Given the description of an element on the screen output the (x, y) to click on. 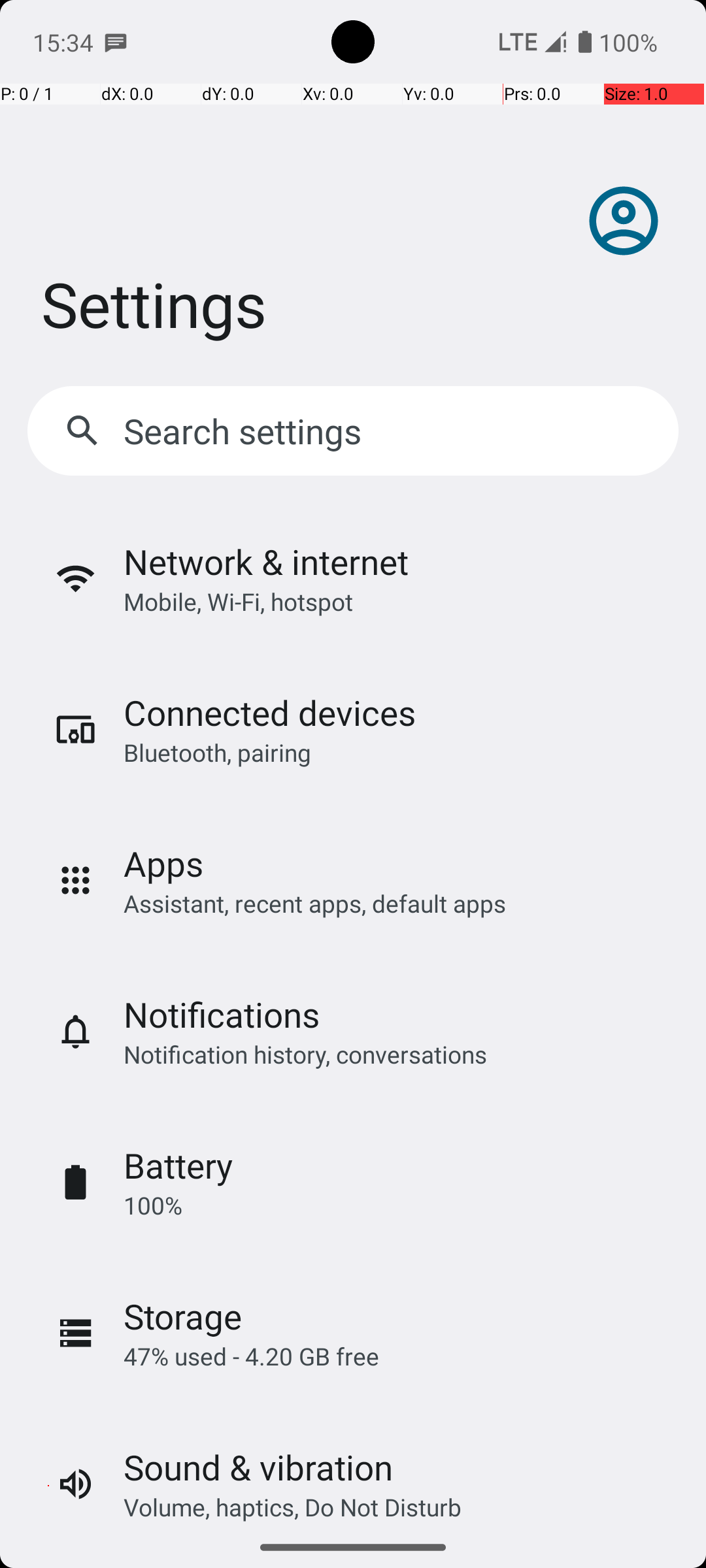
47% used - 4.20 GB free Element type: android.widget.TextView (251, 1355)
